Given the description of an element on the screen output the (x, y) to click on. 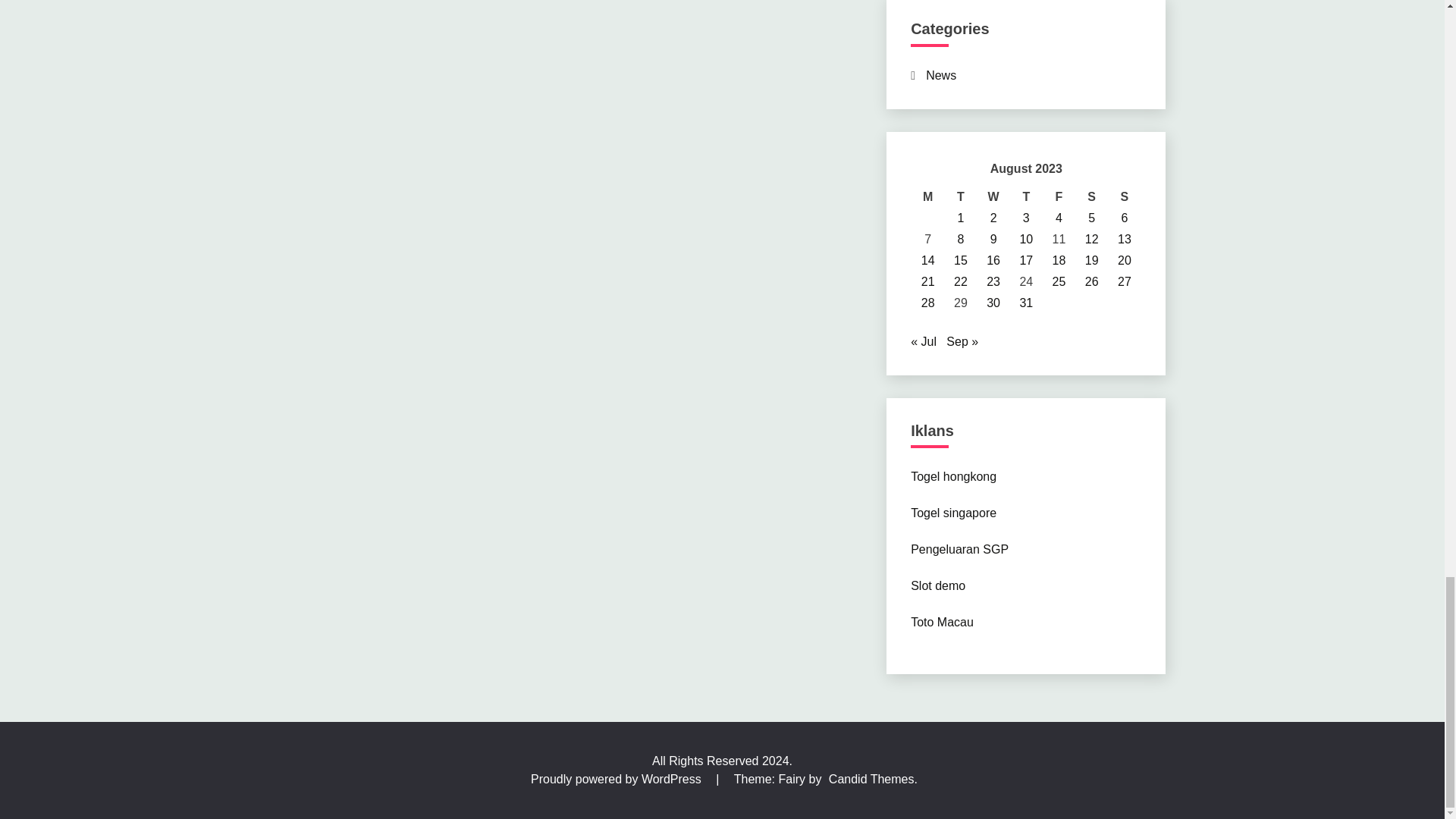
Wednesday (993, 197)
Sunday (1124, 197)
Thursday (1026, 197)
Tuesday (959, 197)
Friday (1058, 197)
Saturday (1090, 197)
Monday (927, 197)
